Given the description of an element on the screen output the (x, y) to click on. 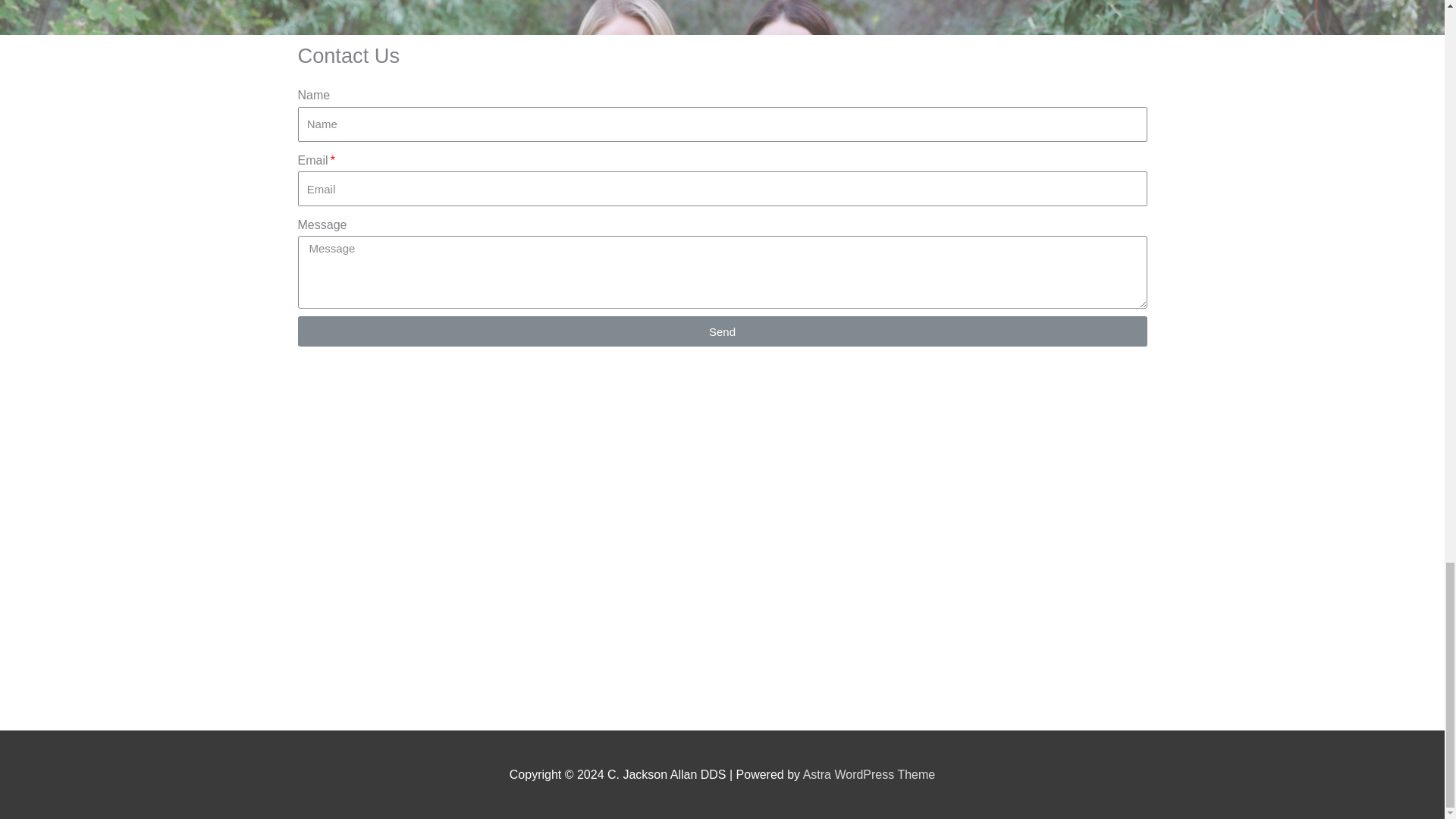
Send (722, 331)
Astra WordPress Theme (869, 774)
